Given the description of an element on the screen output the (x, y) to click on. 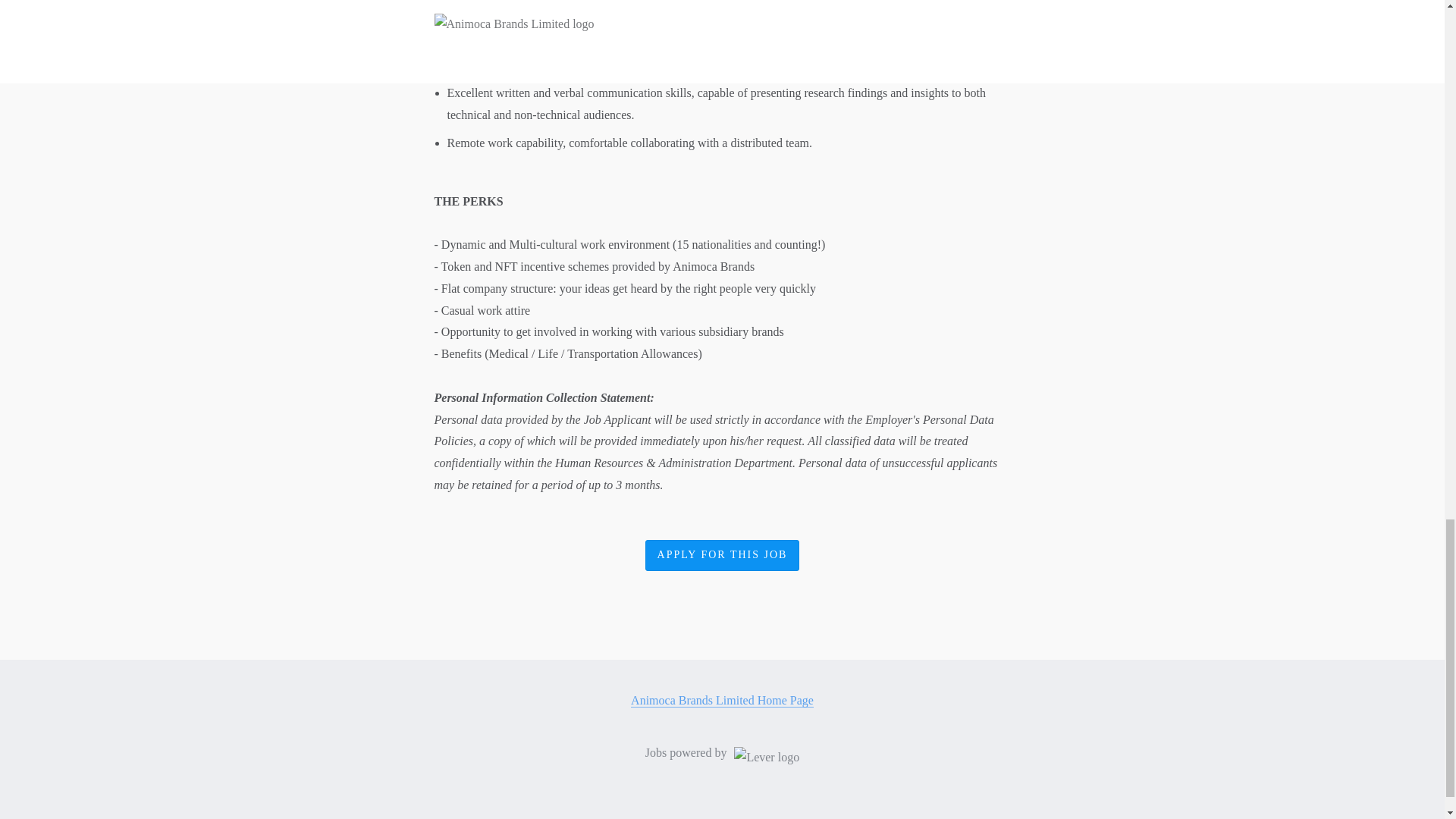
Animoca Brands Limited Home Page (721, 700)
APPLY FOR THIS JOB (722, 554)
Jobs powered by (722, 753)
